Given the description of an element on the screen output the (x, y) to click on. 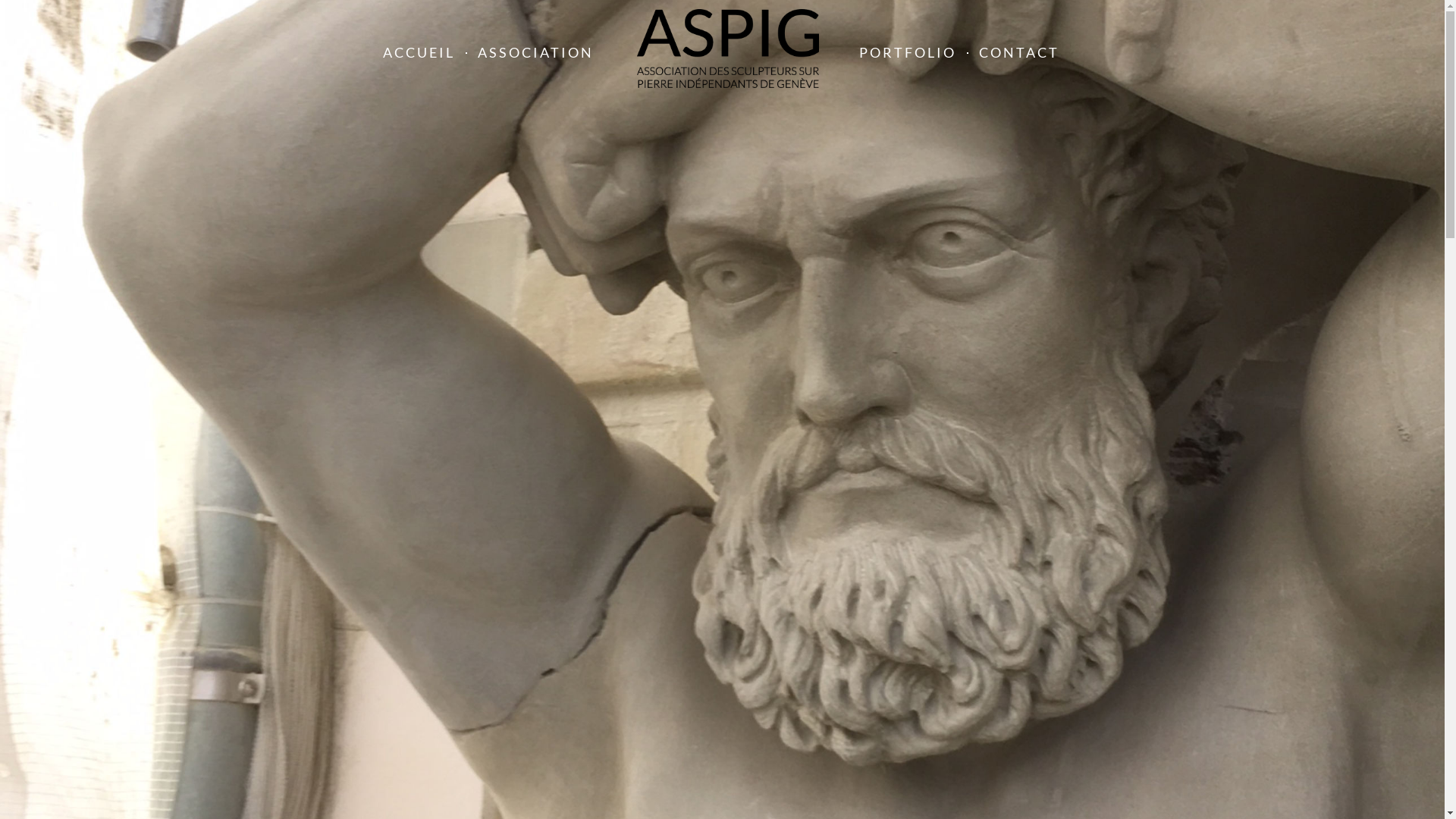
CONTACT Element type: text (1018, 52)
PORTFOLIO Element type: text (906, 52)
ASPIG Element type: hover (728, 51)
ASSOCIATION Element type: text (535, 52)
ACCUEIL Element type: text (418, 52)
